Given the description of an element on the screen output the (x, y) to click on. 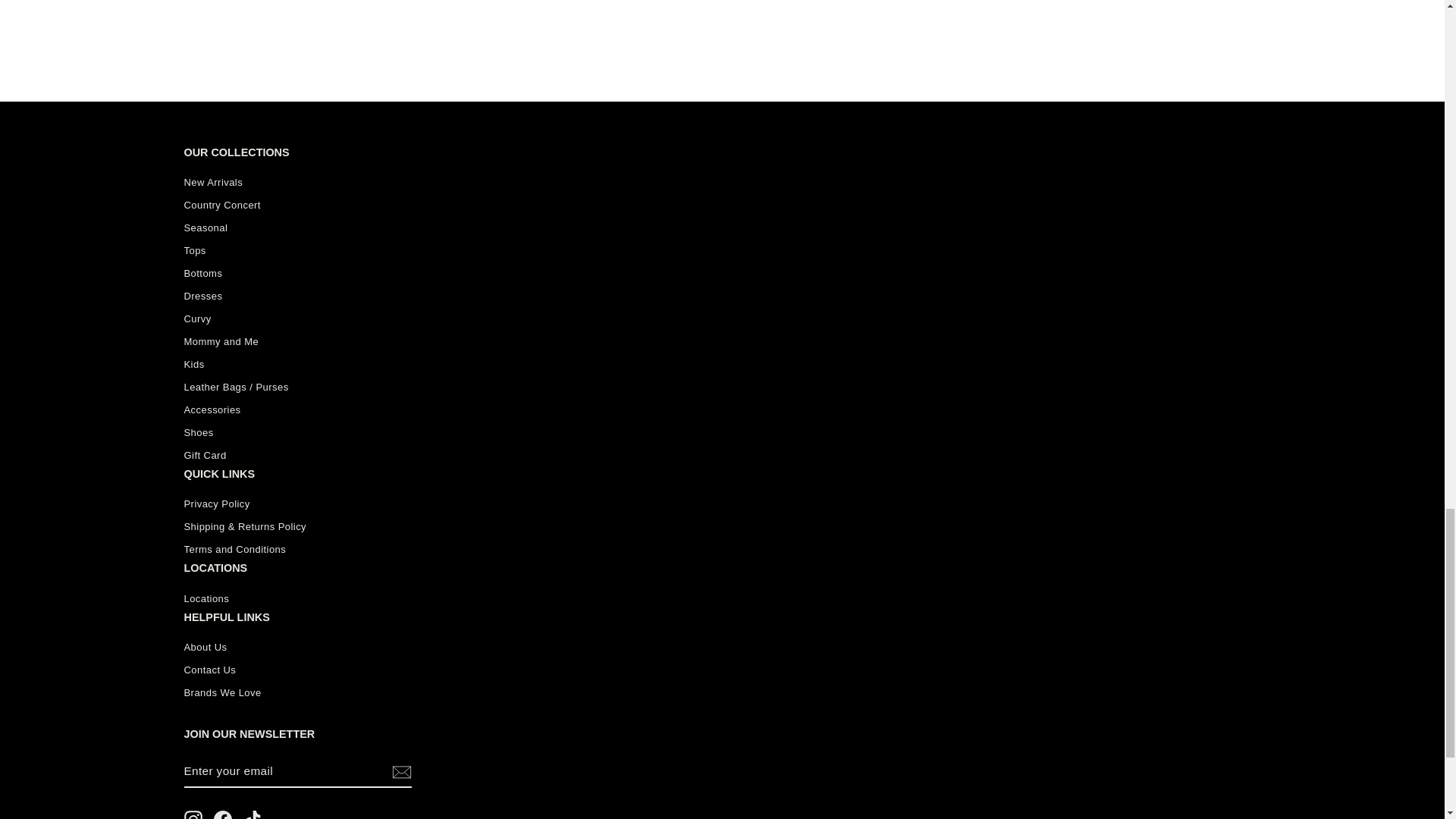
Salt and Grace Boutique on TikTok (251, 814)
icon-email (400, 771)
Salt and Grace Boutique on Facebook (222, 814)
Salt and Grace Boutique on Instagram (192, 814)
instagram (192, 814)
